Given the description of an element on the screen output the (x, y) to click on. 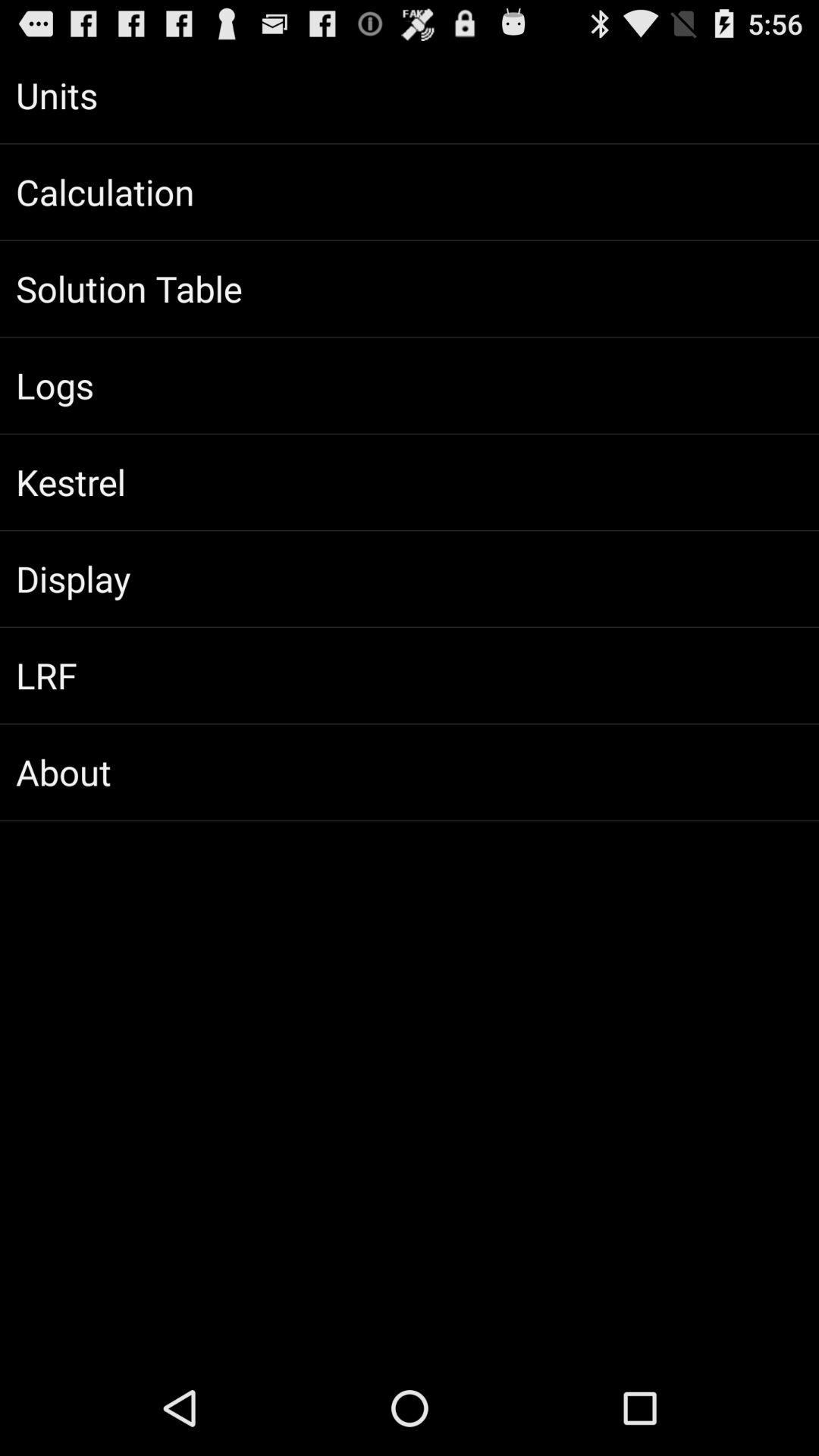
open units item (409, 95)
